Given the description of an element on the screen output the (x, y) to click on. 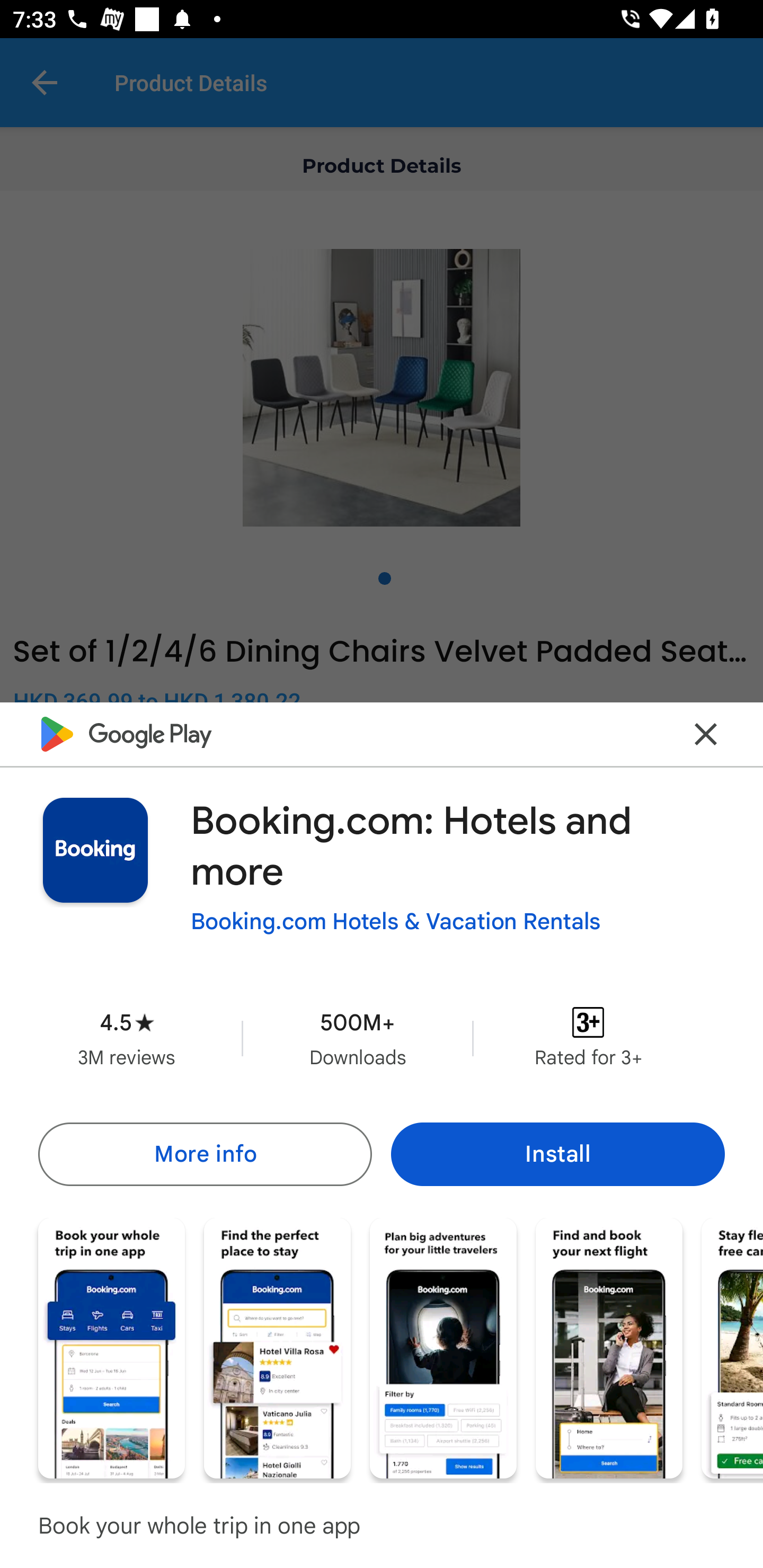
Close (705, 734)
Booking.com Hotels & Vacation Rentals (395, 921)
More info (205, 1153)
Install (557, 1153)
Screenshot "1" of "8" (111, 1348)
Screenshot "2" of "8" (276, 1348)
Screenshot "3" of "8" (443, 1348)
Screenshot "4" of "8" (608, 1348)
